Given the description of an element on the screen output the (x, y) to click on. 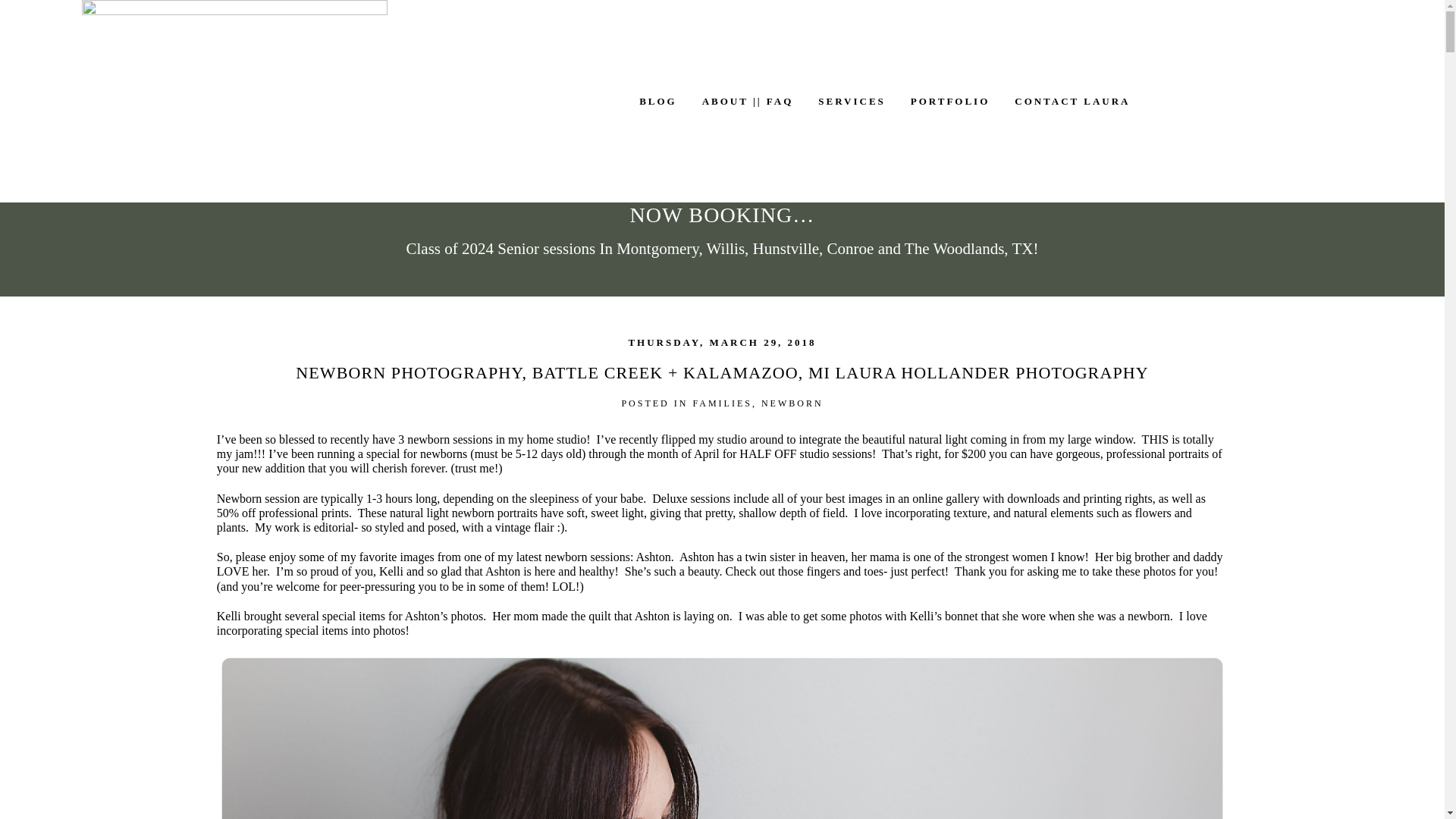
CONTACT LAURA (1071, 101)
PORTFOLIO (950, 101)
NEWBORN (792, 403)
BLOG (658, 101)
SERVICES (851, 101)
FAMILIES (722, 403)
